Given the description of an element on the screen output the (x, y) to click on. 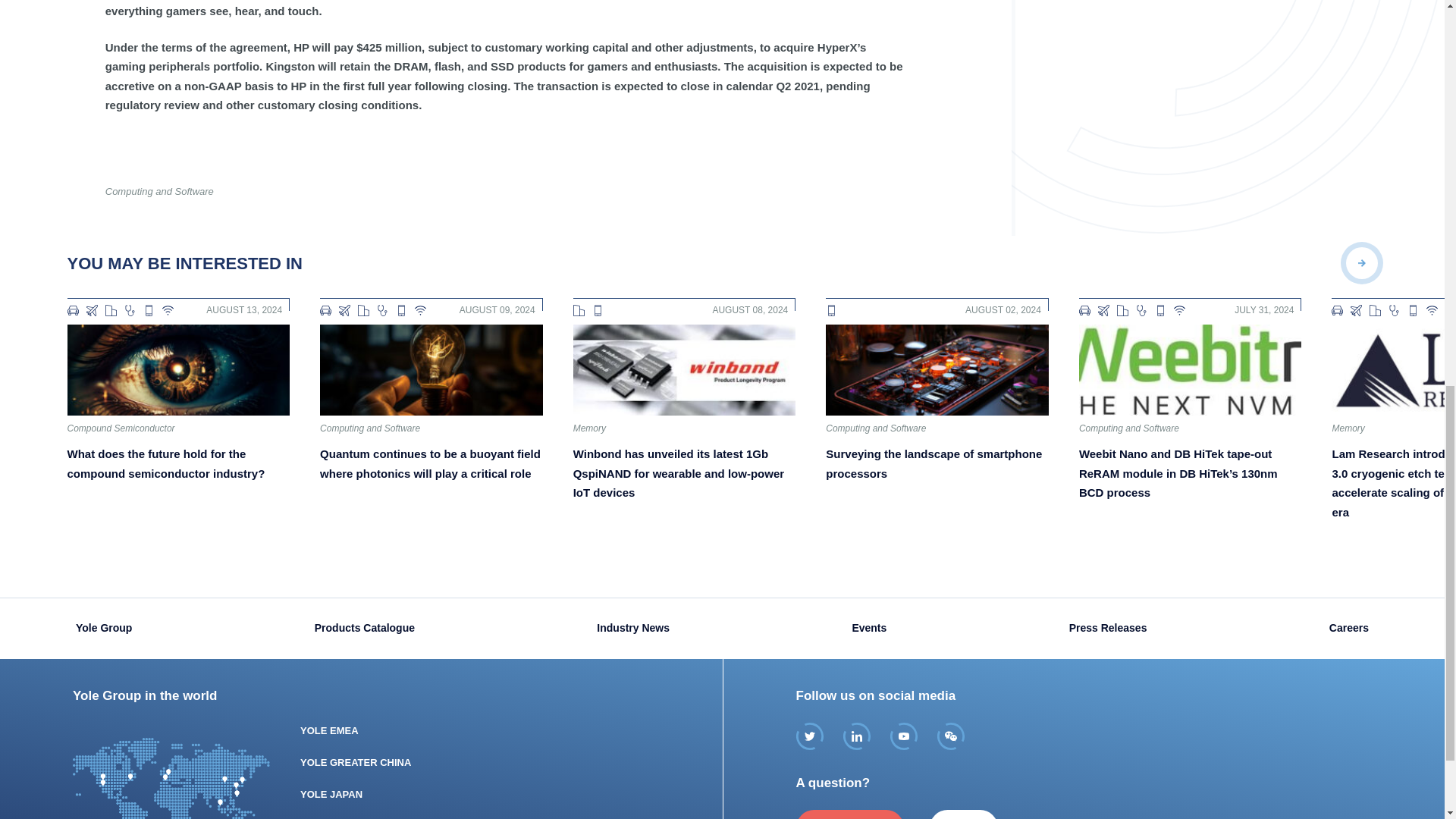
Follow us on linkedin (856, 736)
Follow us on twitter (810, 736)
Follow us on youtube (903, 736)
Follow us on wechat (950, 736)
